Given the description of an element on the screen output the (x, y) to click on. 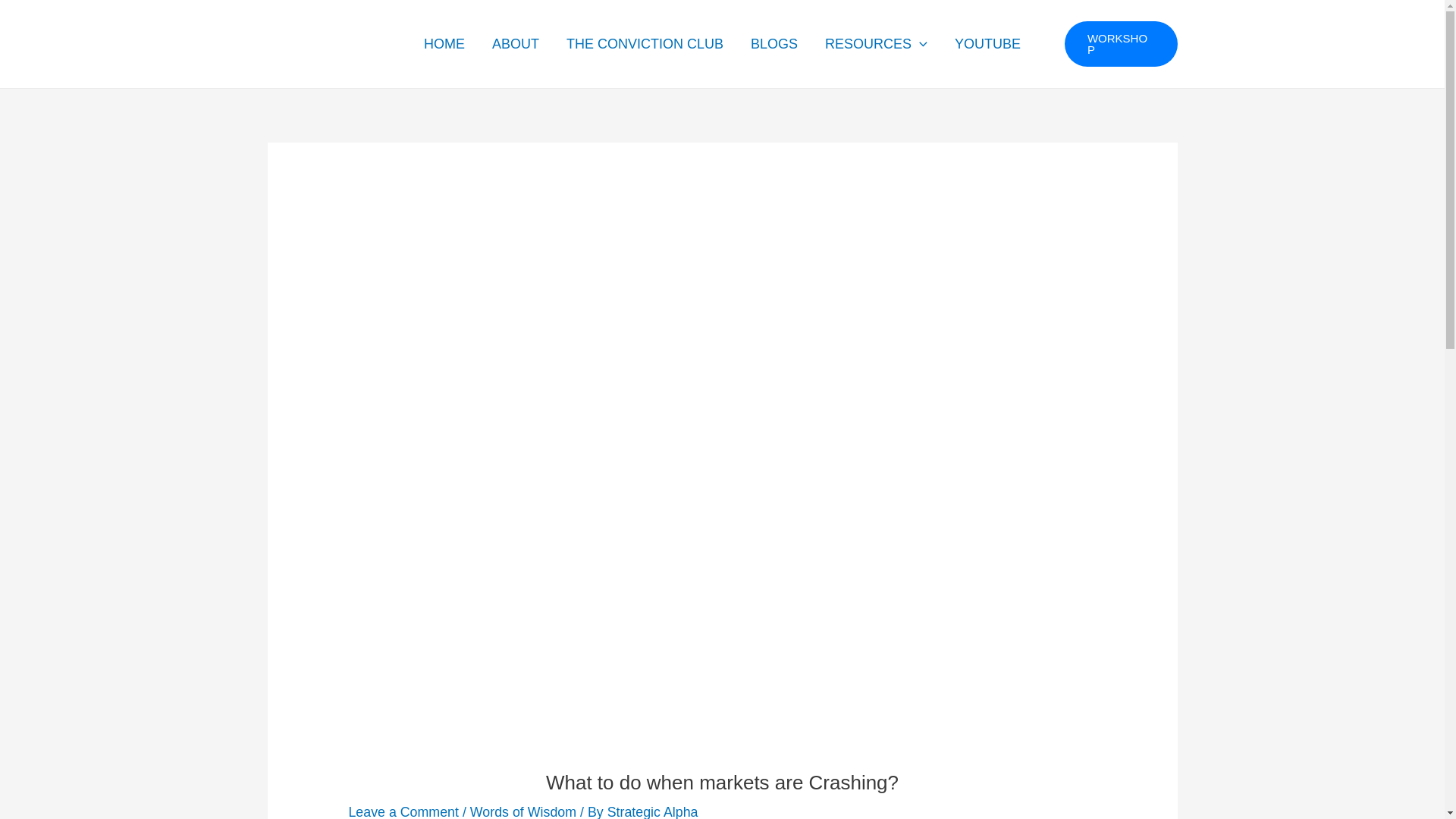
View all posts by Strategic Alpha (652, 811)
WORKSHOP (1120, 43)
BLOGS (773, 43)
YOUTUBE (986, 43)
Strategic Alpha (652, 811)
ABOUT (516, 43)
Words of Wisdom (523, 811)
THE CONVICTION CLUB (644, 43)
Leave a Comment (402, 811)
RESOURCES (875, 43)
